Given the description of an element on the screen output the (x, y) to click on. 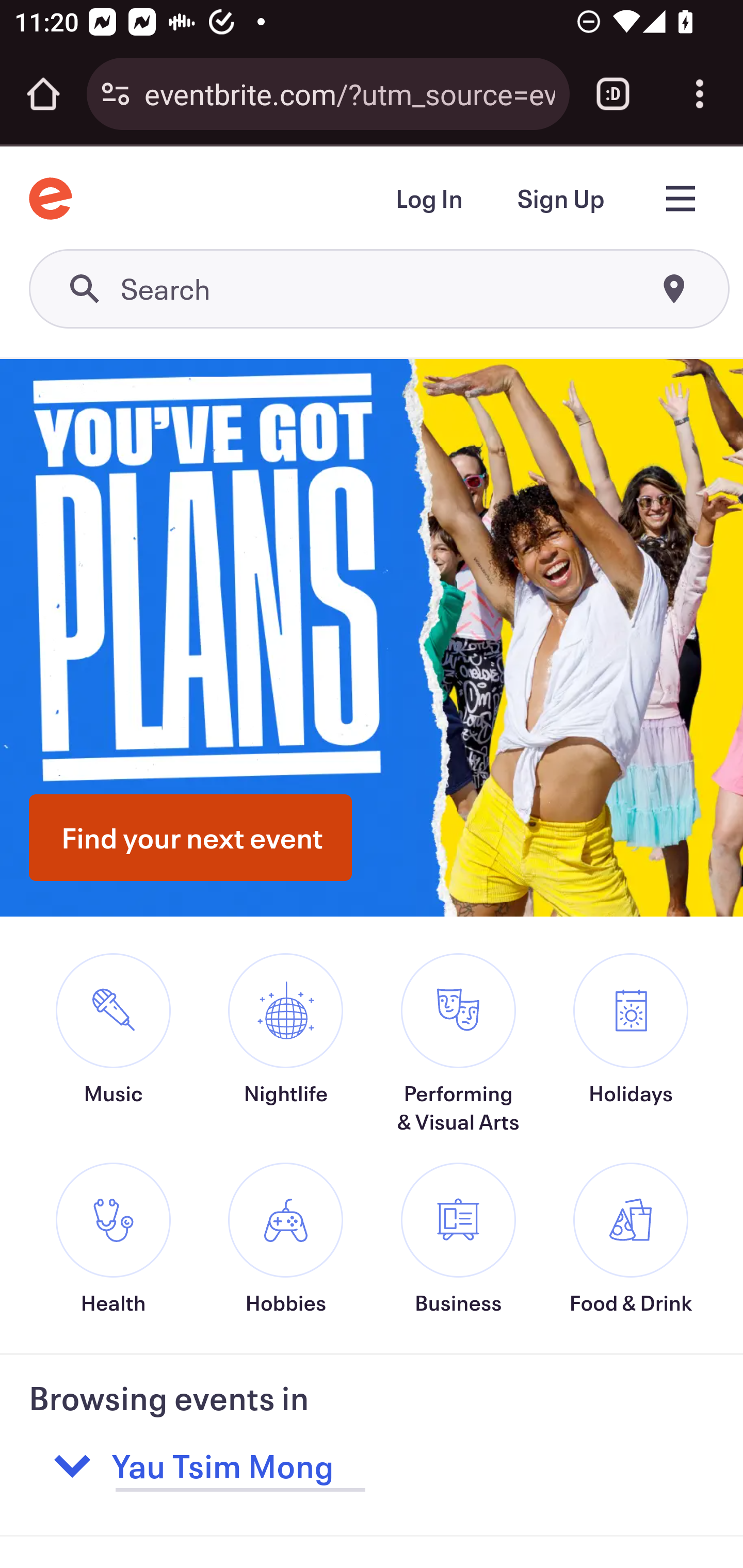
Open the home page (43, 93)
Connection is secure (115, 93)
Switch or close tabs (612, 93)
Customize and control Google Chrome (699, 93)
Log In (428, 199)
Sign Up (560, 199)
Home Eventbrite (50, 198)
Search (379, 289)
Find your next event (190, 836)
Music (112, 1056)
Nightlife (285, 1056)
Performing & Visual Arts (458, 1043)
Holidays (630, 1056)
Health (112, 1239)
Hobbies (285, 1239)
Business (458, 1239)
Food & Drink (630, 1239)
Yau Tsim Mong (338, 1465)
